Given the description of an element on the screen output the (x, y) to click on. 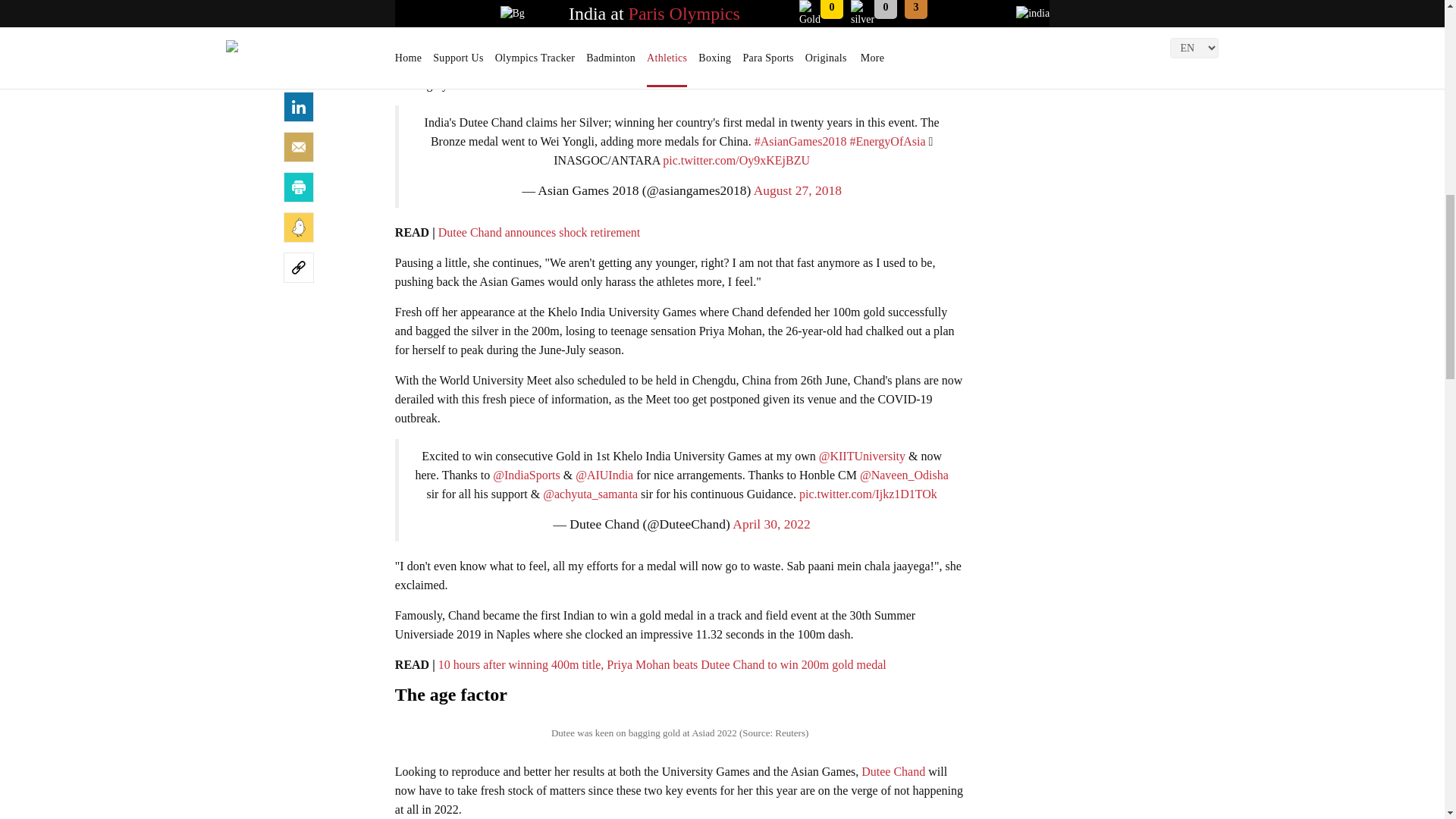
LinkedIn (298, 106)
Share by Email (298, 146)
